Given the description of an element on the screen output the (x, y) to click on. 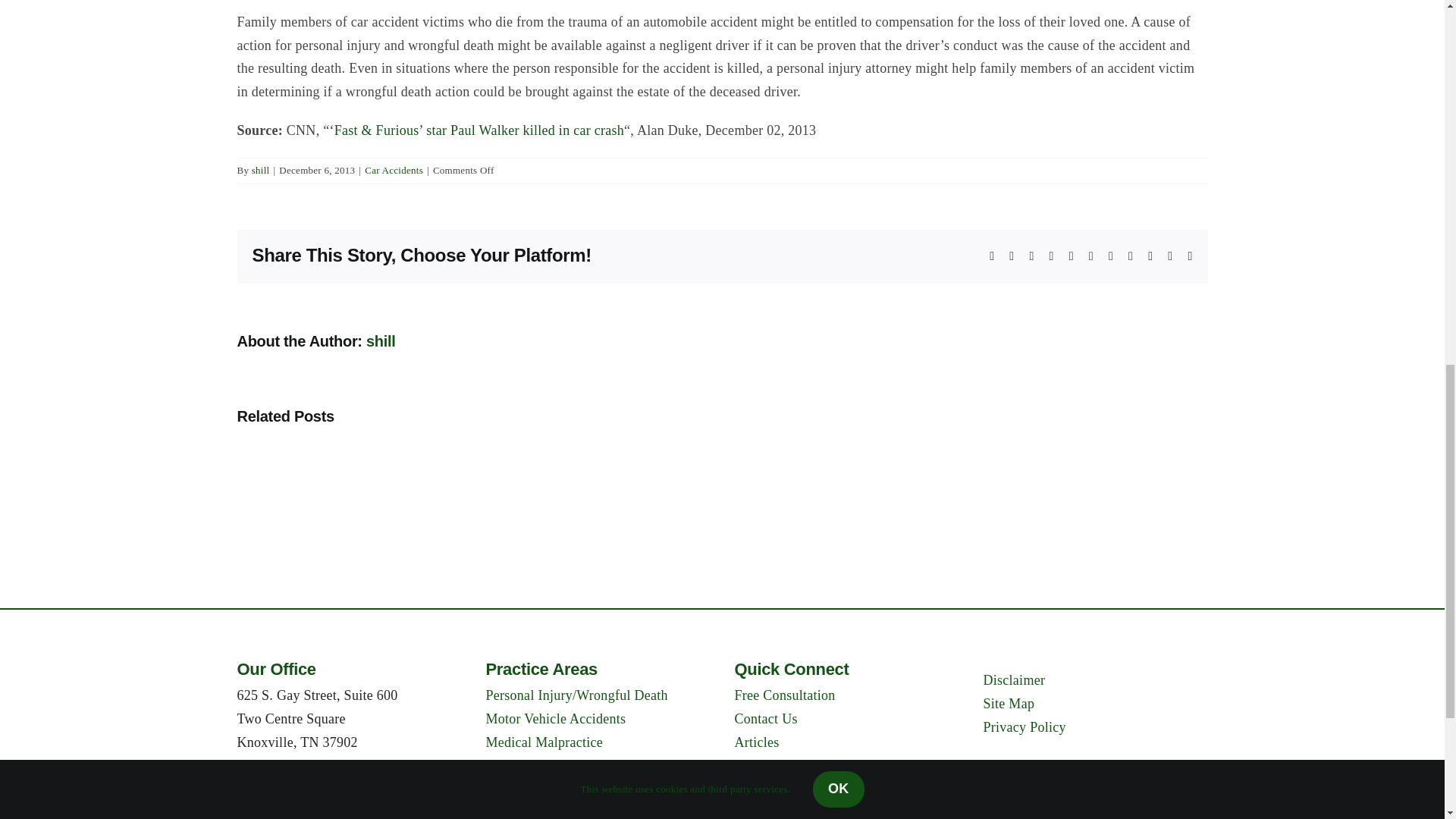
Posts by shill (381, 340)
Posts by shill (260, 170)
